Given the description of an element on the screen output the (x, y) to click on. 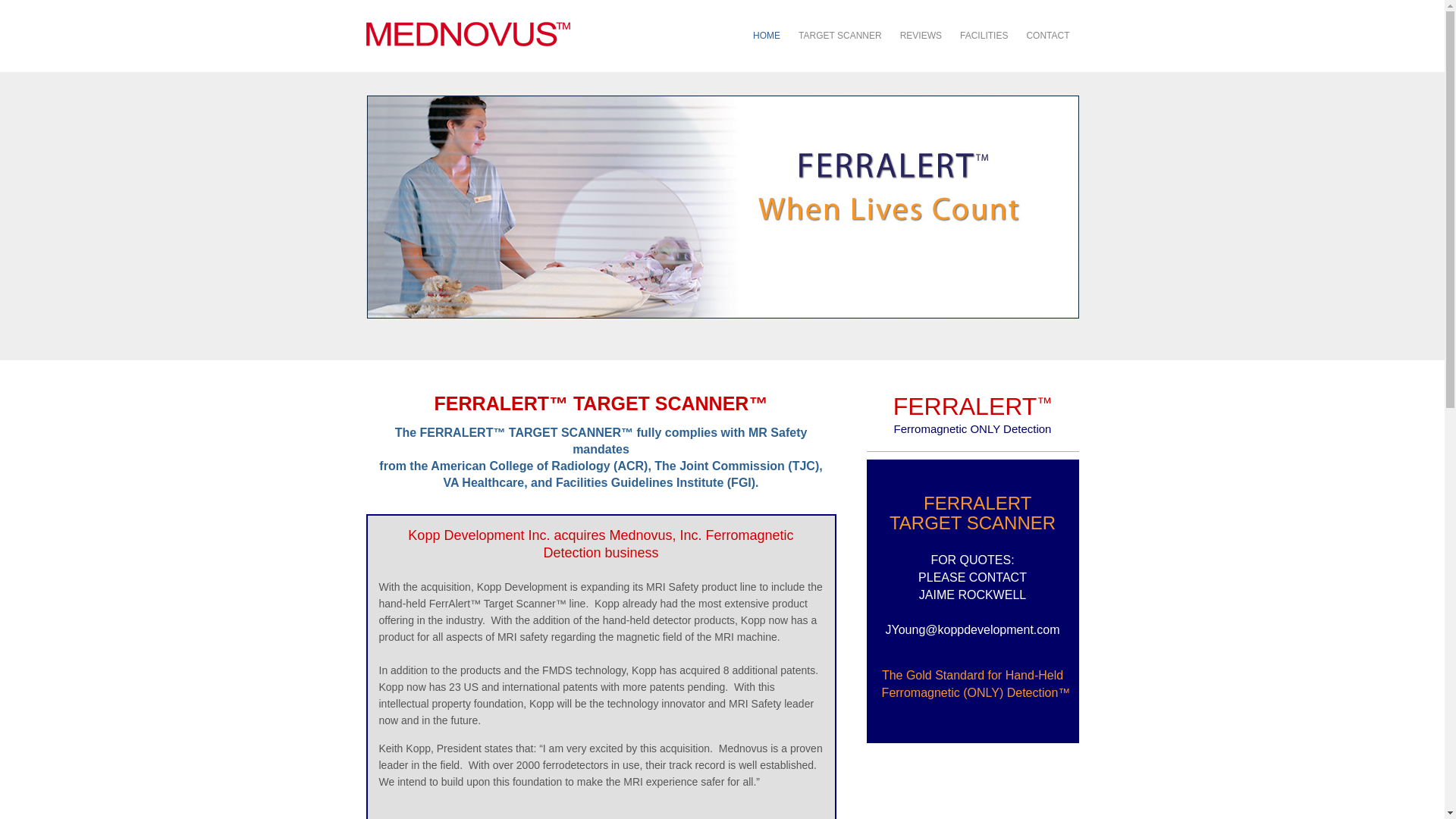
REVIEWS (920, 35)
FACILITIES (983, 35)
HOME (766, 35)
2 (727, 337)
1 (711, 337)
TARGET SCANNER (840, 35)
CONTACT (1047, 35)
